Given the description of an element on the screen output the (x, y) to click on. 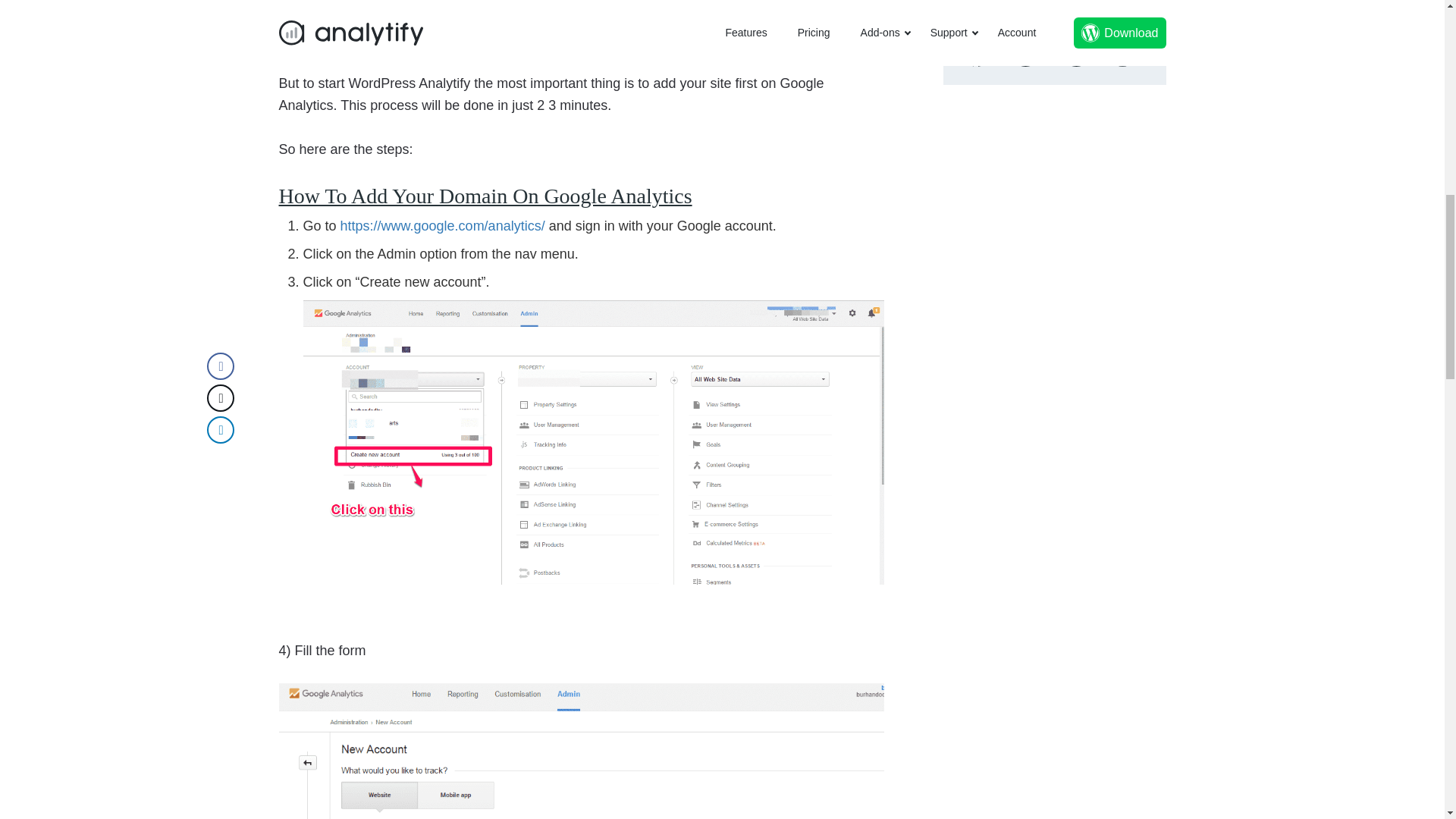
How To Add Your Domain On Google Analytics 2 (581, 751)
